Given the description of an element on the screen output the (x, y) to click on. 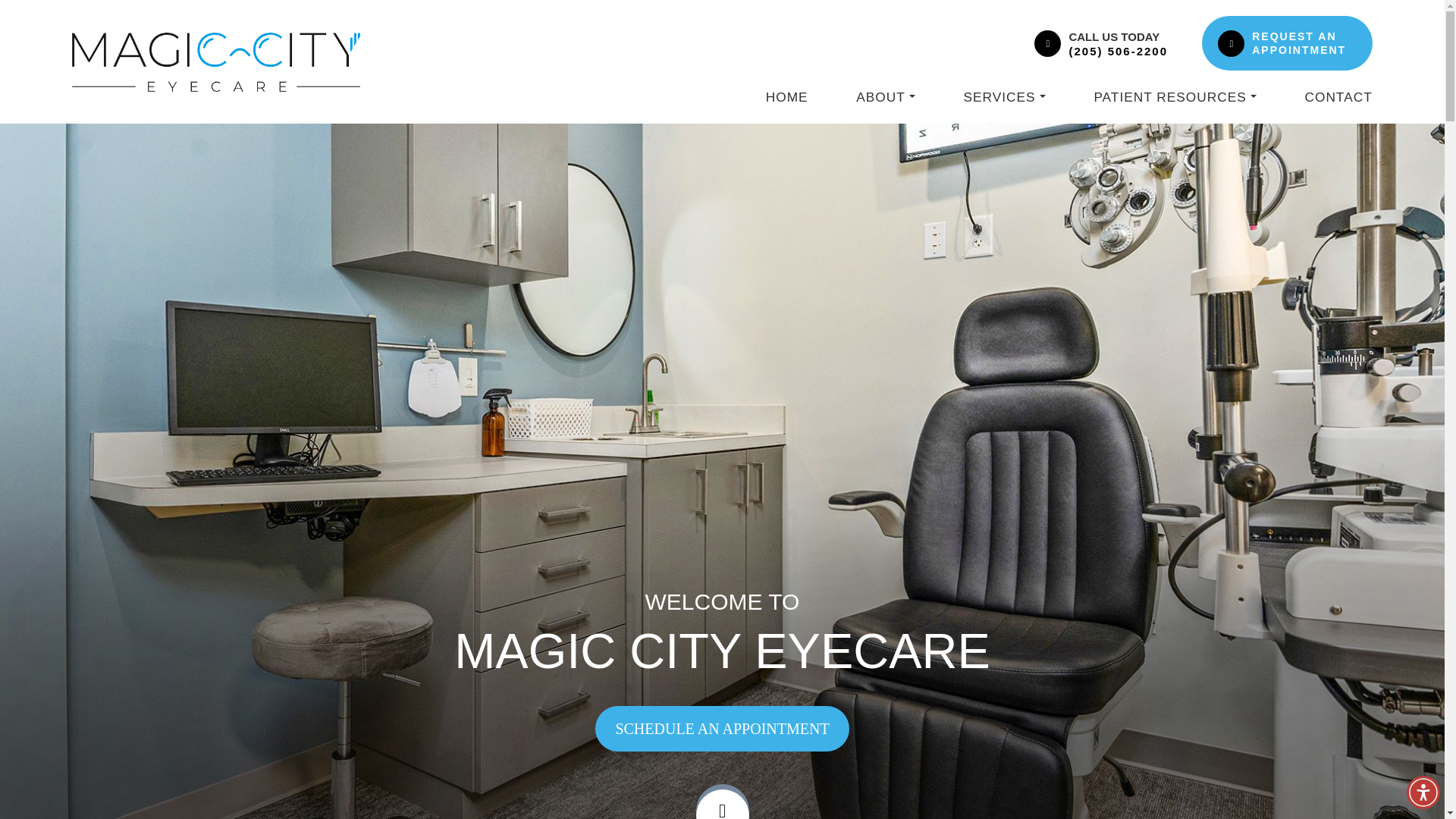
ABOUT (885, 96)
REQUEST AN APPOINTMENT (1303, 42)
HOME (786, 96)
Accessibility Menu (1422, 792)
